Given the description of an element on the screen output the (x, y) to click on. 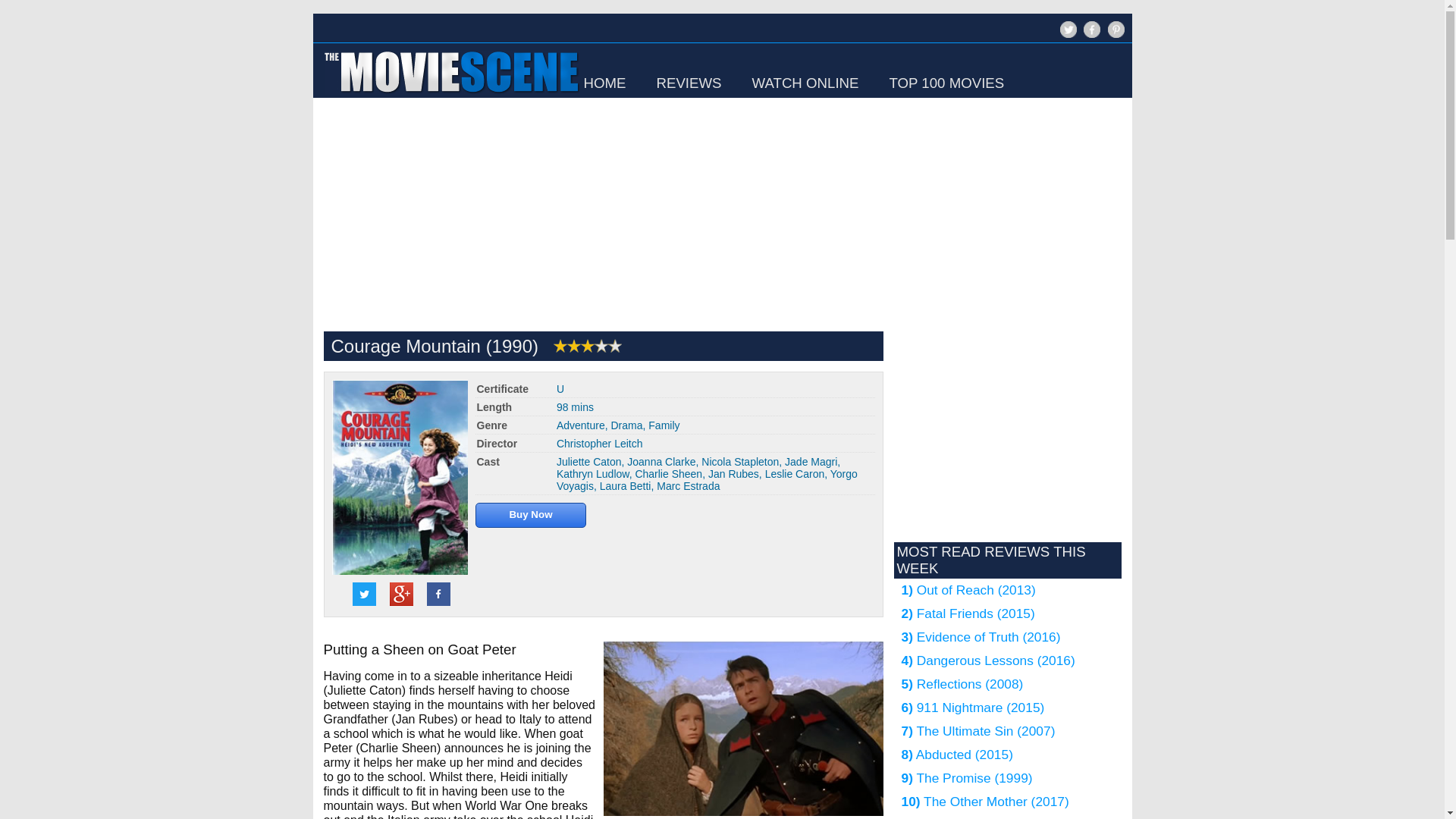
TOP 100 MOVIES (946, 83)
Share on Twitter (363, 594)
Jade Magri (810, 461)
REVIEWS (688, 83)
The Movie Scene - homepage (449, 94)
Follow The Movie Scene on Pinterest (1115, 29)
Yorgo Voyagis (706, 479)
Follow The Movie Scene on Twitter (1068, 29)
